Given the description of an element on the screen output the (x, y) to click on. 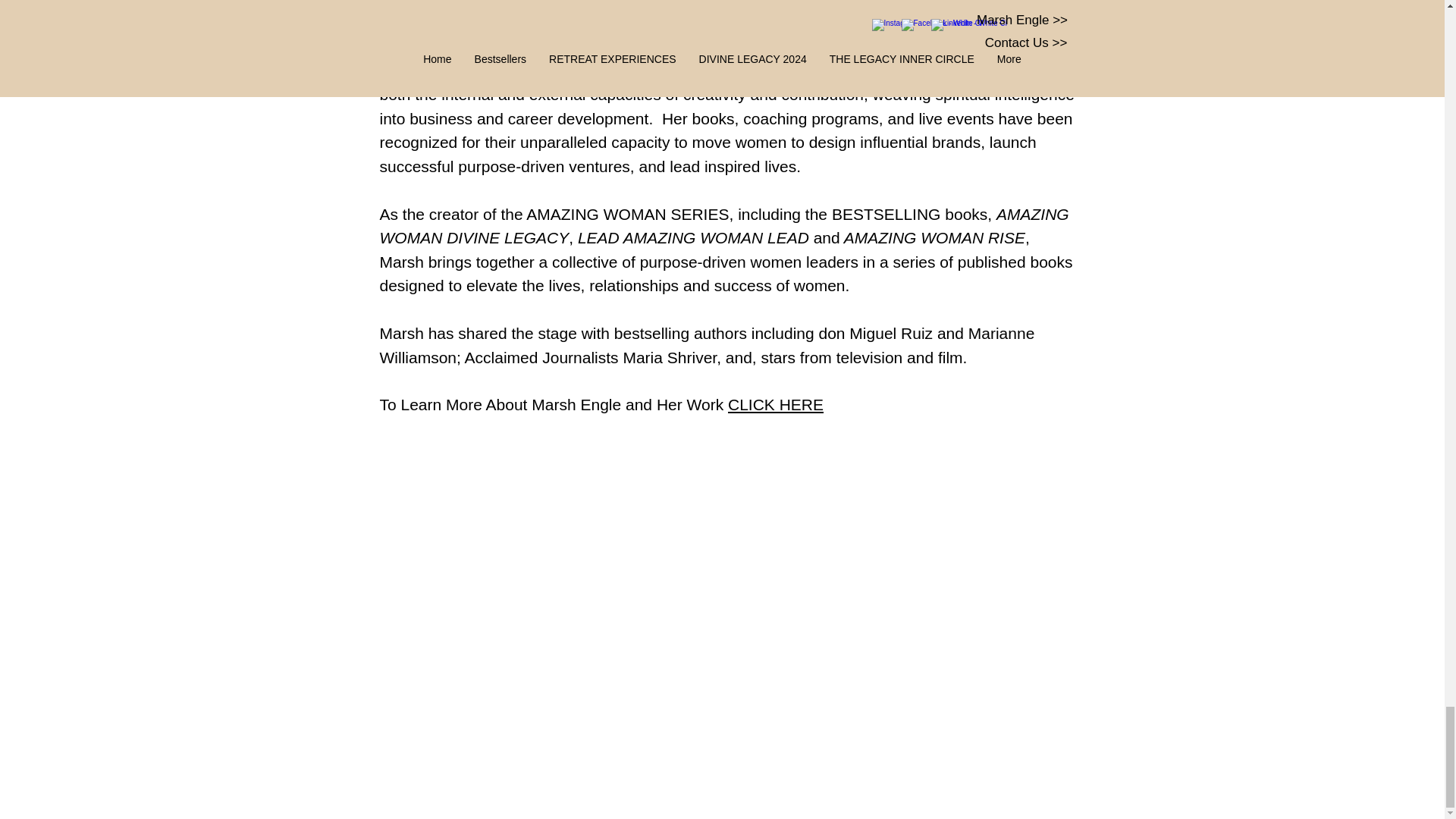
CLICK HERE (776, 404)
